Given the description of an element on the screen output the (x, y) to click on. 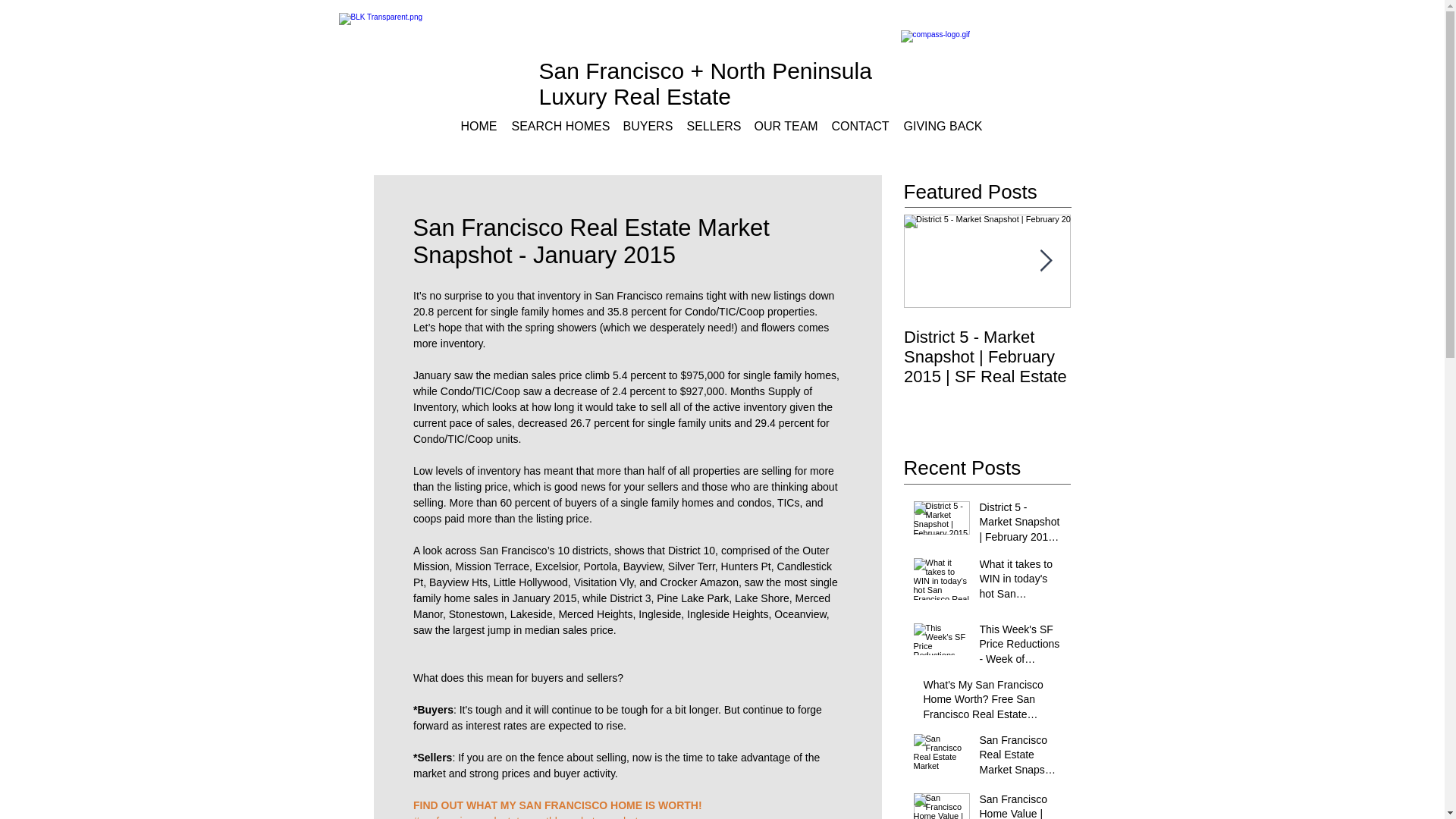
GLS Logo LIGHT BOX.jpg (434, 49)
GLS Logo LIGHT BOX.jpg (1008, 49)
FIND OUT WHAT MY SAN FRANCISCO HOME IS WORTH! (556, 805)
OUR TEAM (784, 125)
HOME (477, 125)
SEARCH HOMES (558, 125)
BUYERS (647, 125)
SELLERS (712, 125)
CONTACT (859, 125)
